Given the description of an element on the screen output the (x, y) to click on. 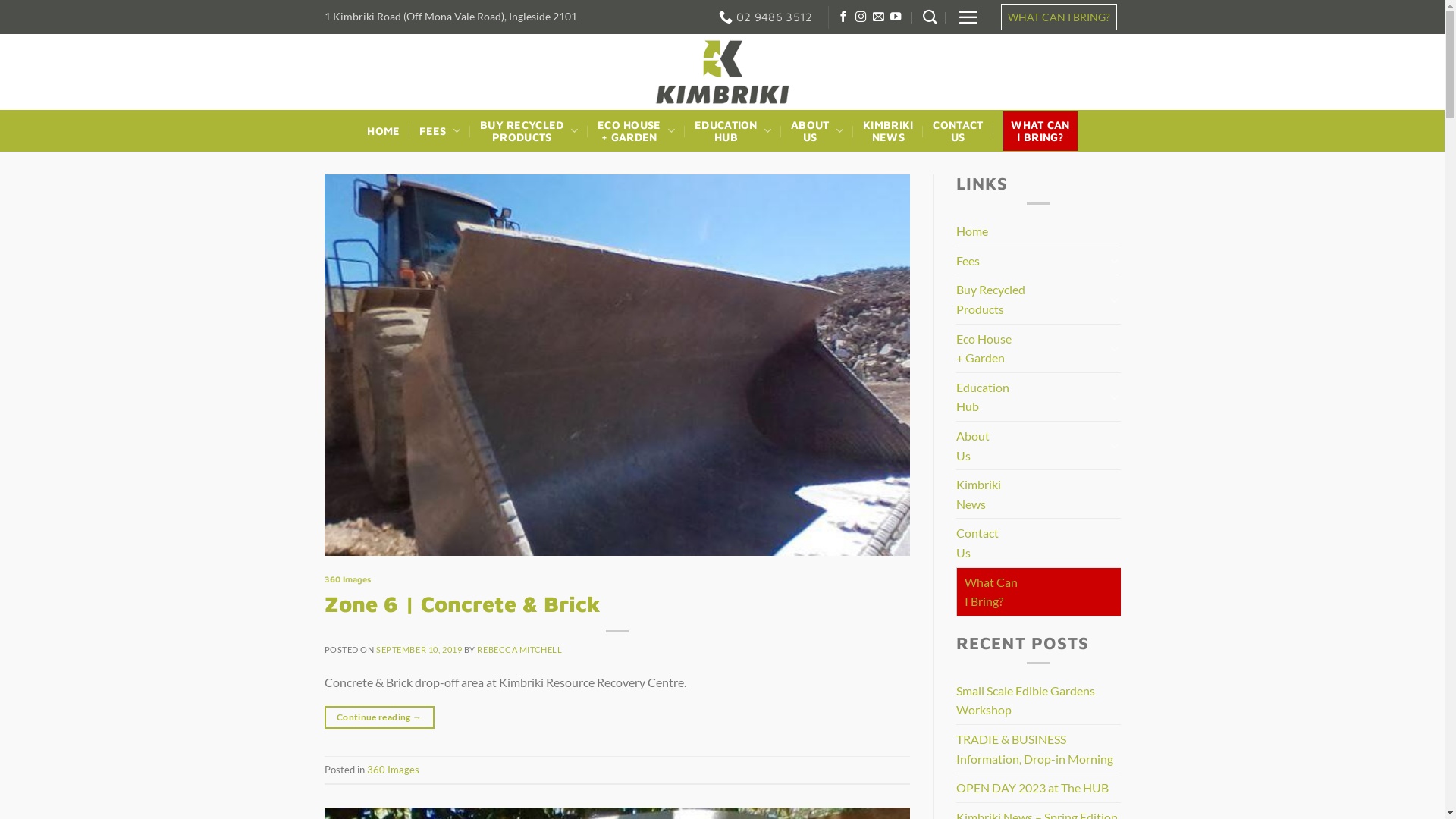
CONTACT
US Element type: text (957, 130)
TRADIE & BUSINESS Information, Drop-in Morning Element type: text (1038, 748)
ABOUT
US Element type: text (816, 130)
360 Images Element type: text (347, 578)
ECO HOUSE
+ GARDEN Element type: text (635, 130)
REBECCA MITCHELL Element type: text (518, 649)
360 Images Element type: text (393, 769)
Education
Hub Element type: text (1030, 396)
Zone 6 | Concrete & Brick Element type: text (462, 603)
WHAT CAN I BRING? Element type: text (1058, 16)
Fees Element type: text (1030, 260)
Small Scale Edible Gardens Workshop Element type: text (1038, 700)
SEPTEMBER 10, 2019 Element type: text (418, 649)
About
Us Element type: text (1030, 445)
BUY RECYCLED
PRODUCTS Element type: text (528, 130)
WHAT CAN
I BRING? Element type: text (1039, 130)
EDUCATION
HUB Element type: text (732, 130)
Kimbriki
News Element type: text (978, 493)
Buy Recycled
Products Element type: text (1030, 299)
Eco House
+ Garden Element type: text (1030, 348)
Home Element type: text (972, 230)
FEES Element type: text (439, 130)
Contact
Us Element type: text (977, 542)
HOME Element type: text (383, 130)
OPEN DAY 2023 at The HUB Element type: text (1032, 787)
02 9486 3512 Element type: text (765, 16)
KIMBRIKI
NEWS Element type: text (887, 130)
What Can
I Bring? Element type: text (990, 591)
